Given the description of an element on the screen output the (x, y) to click on. 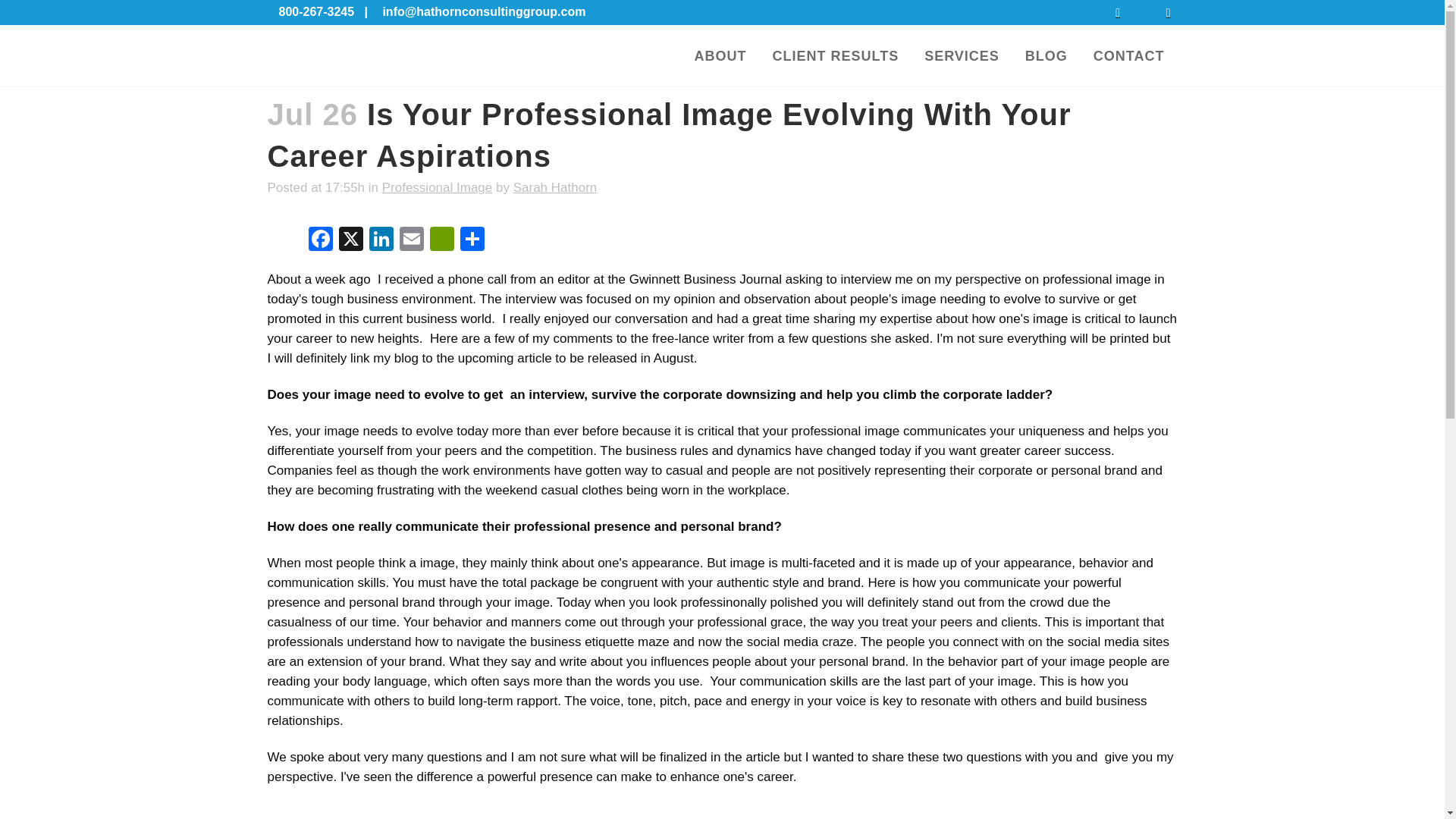
CONTACT (1128, 55)
ABOUT (719, 55)
X (349, 240)
Facebook (319, 240)
SERVICES (961, 55)
PrintFriendly (441, 240)
Email (411, 240)
LinkedIn (380, 240)
CLIENT RESULTS (834, 55)
BLOG (1045, 55)
